Given the description of an element on the screen output the (x, y) to click on. 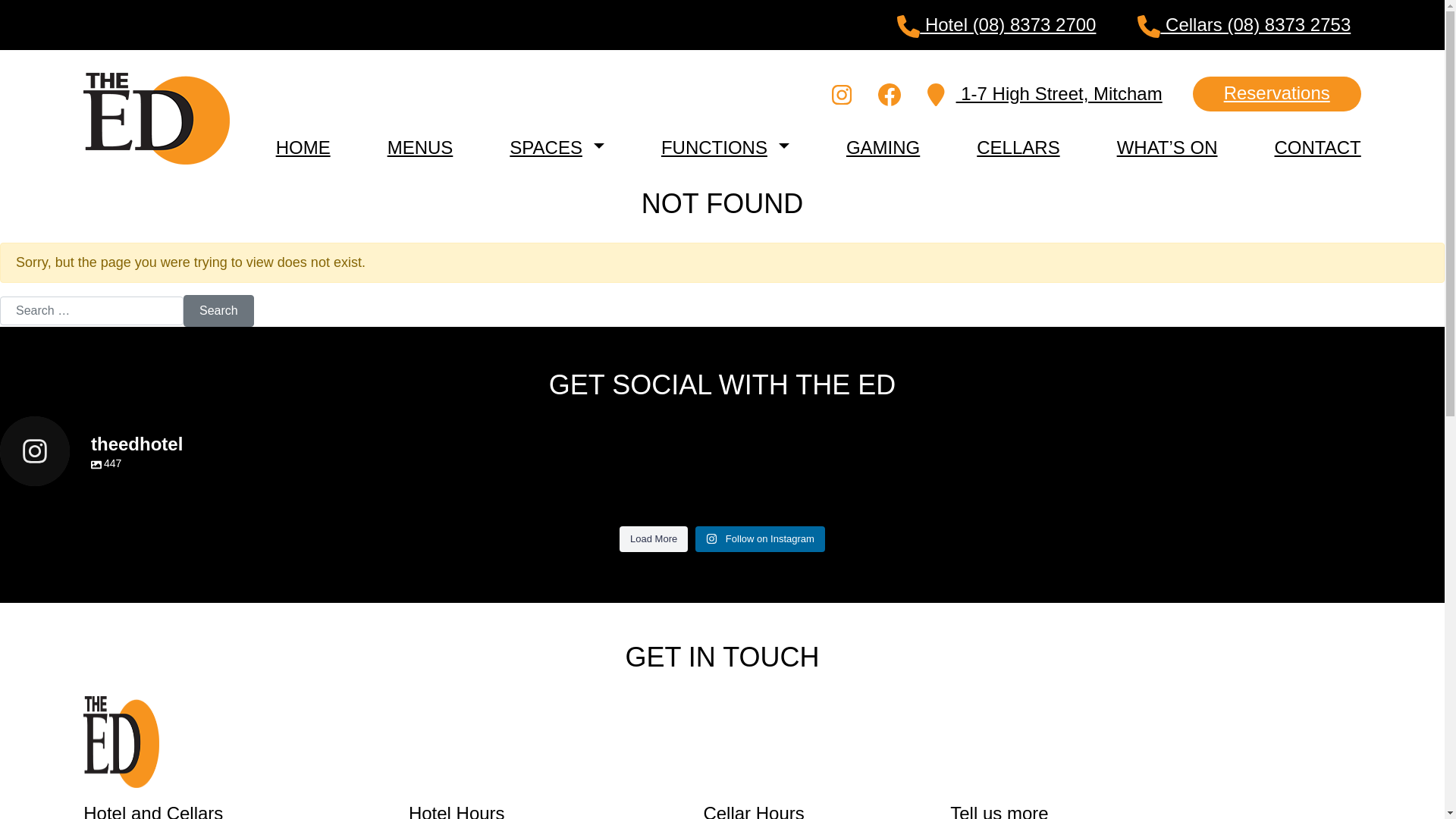
1-7 High Street, Mitcham Element type: text (1044, 93)
SPACES Element type: text (545, 146)
Load More Element type: text (653, 539)
MENUS Element type: text (420, 146)
CELLARS Element type: text (1017, 146)
CONTACT Element type: text (1317, 146)
FUNCTIONS Element type: text (714, 146)
theedhotel
447 Element type: text (722, 451)
HOME Element type: text (303, 146)
The Ed Element type: hover (156, 117)
Search Element type: text (218, 310)
Hotel (08) 8373 2700 Element type: text (996, 24)
Follow on Instagram Element type: text (760, 539)
Reservations Element type: text (1276, 92)
The Ed Element type: hover (121, 740)
GAMING Element type: text (882, 146)
Cellars (08) 8373 2753 Element type: text (1243, 24)
